Given the description of an element on the screen output the (x, y) to click on. 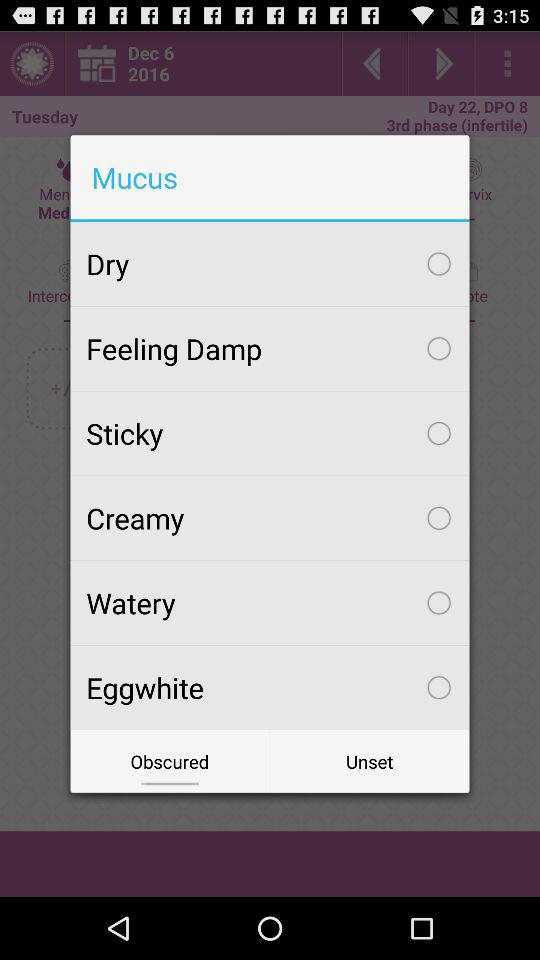
select the item below the eggwhite item (169, 761)
